Given the description of an element on the screen output the (x, y) to click on. 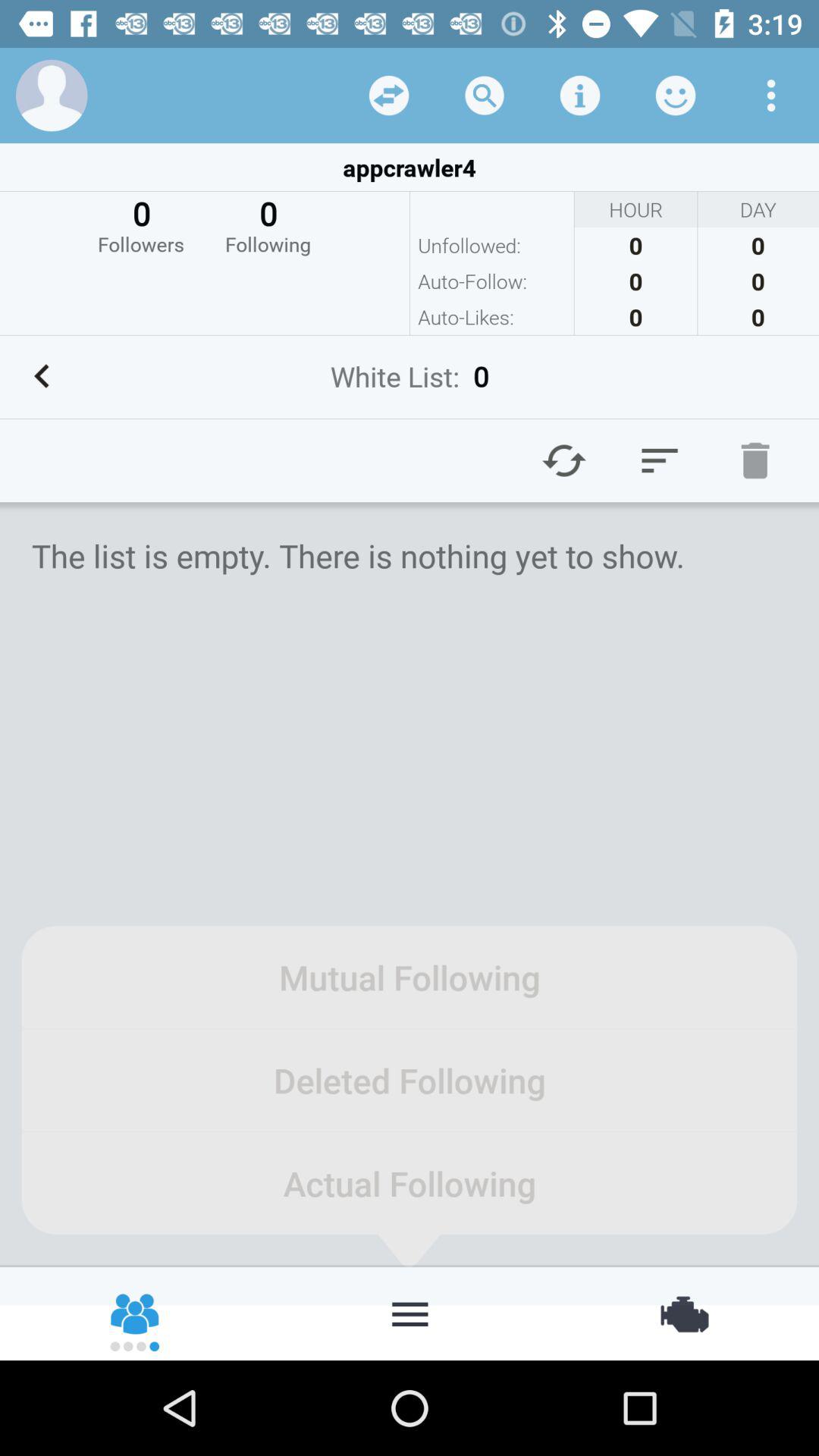
open search (484, 95)
